Given the description of an element on the screen output the (x, y) to click on. 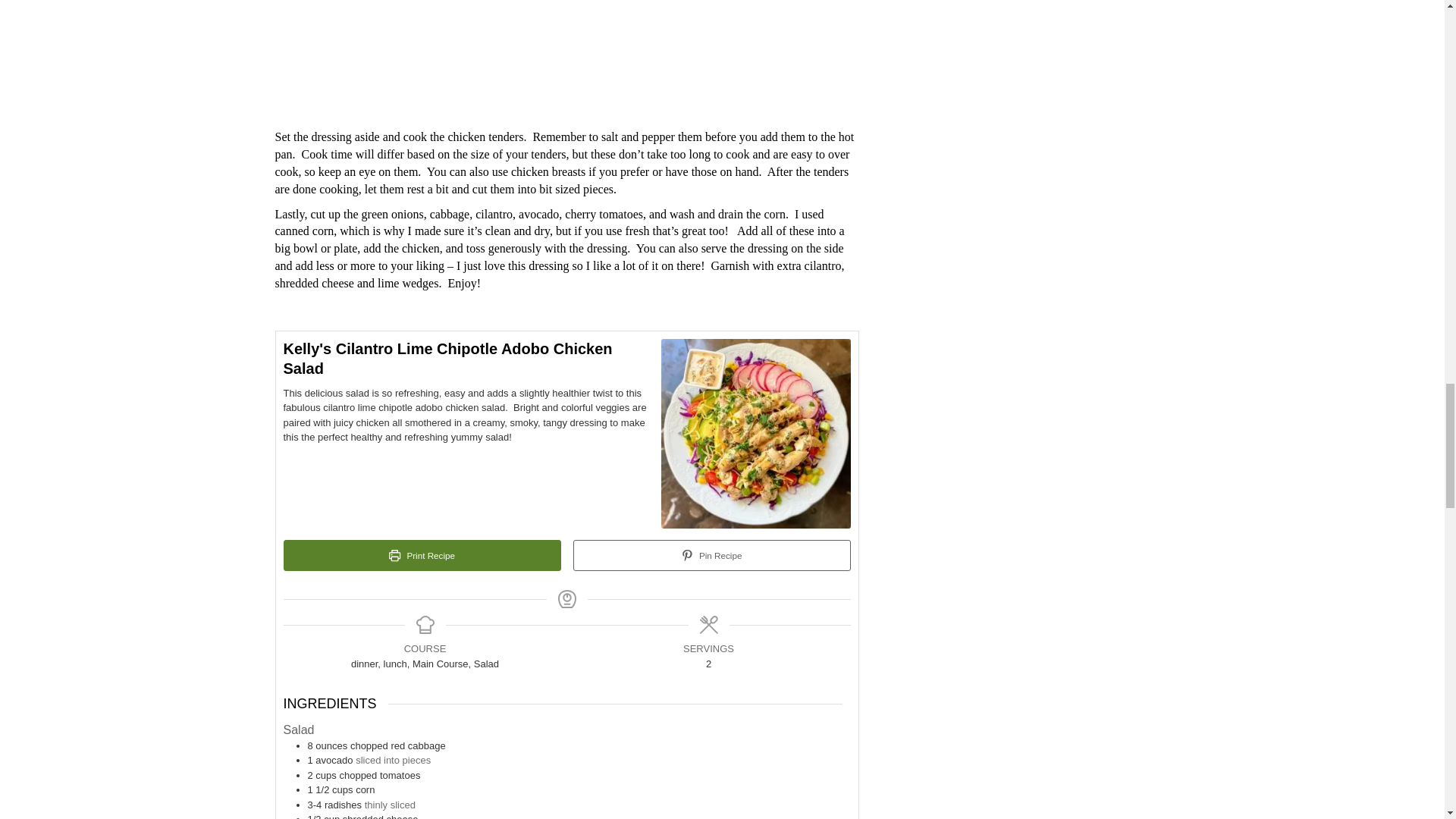
Print Recipe (421, 555)
Pin Recipe (711, 555)
